Given the description of an element on the screen output the (x, y) to click on. 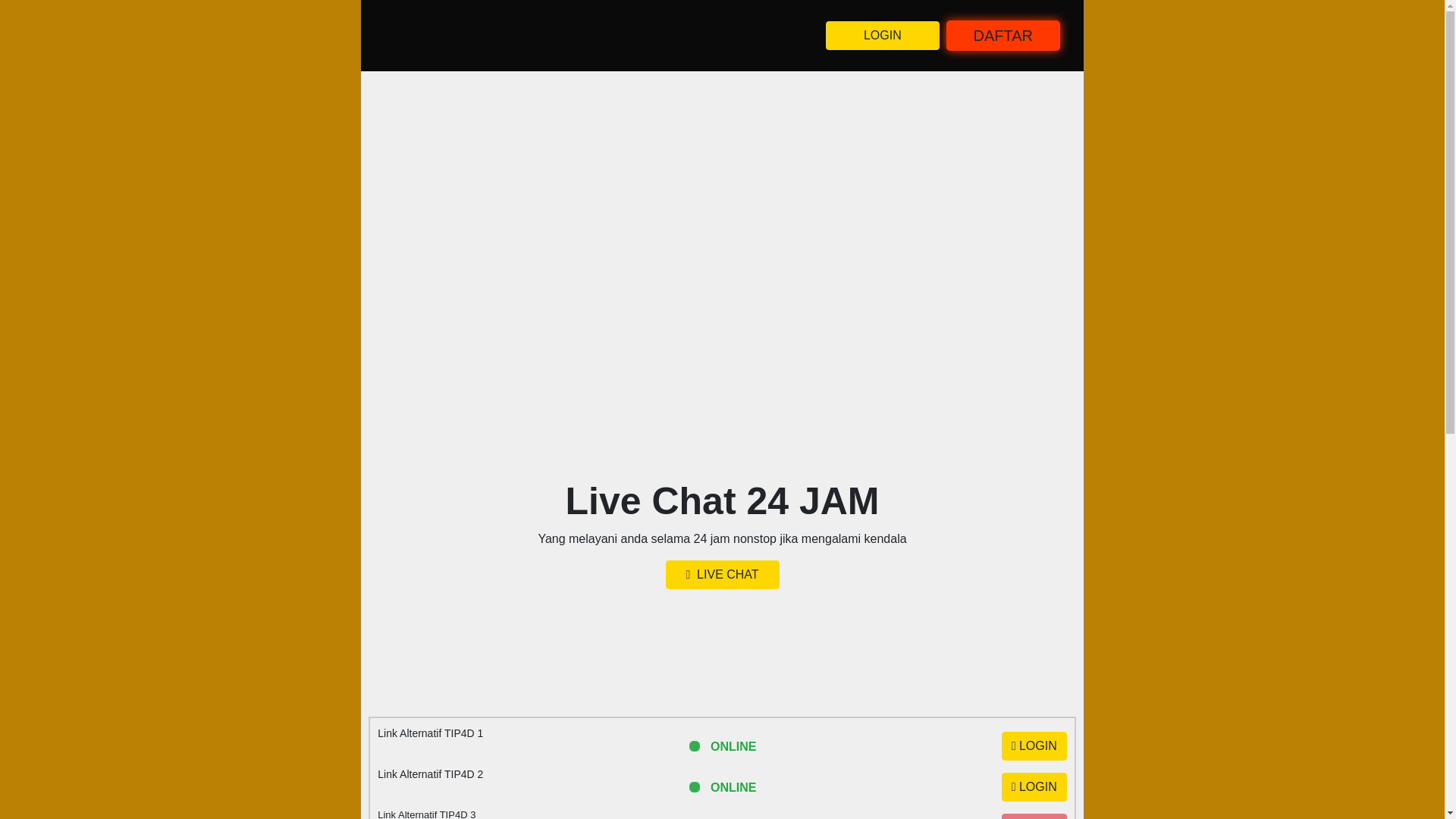
  LIVE CHAT (721, 574)
DAFTAR (1002, 35)
 LOGIN (1034, 816)
 LOGIN (1034, 787)
 LOGIN (1034, 746)
LOGIN (882, 35)
